Given the description of an element on the screen output the (x, y) to click on. 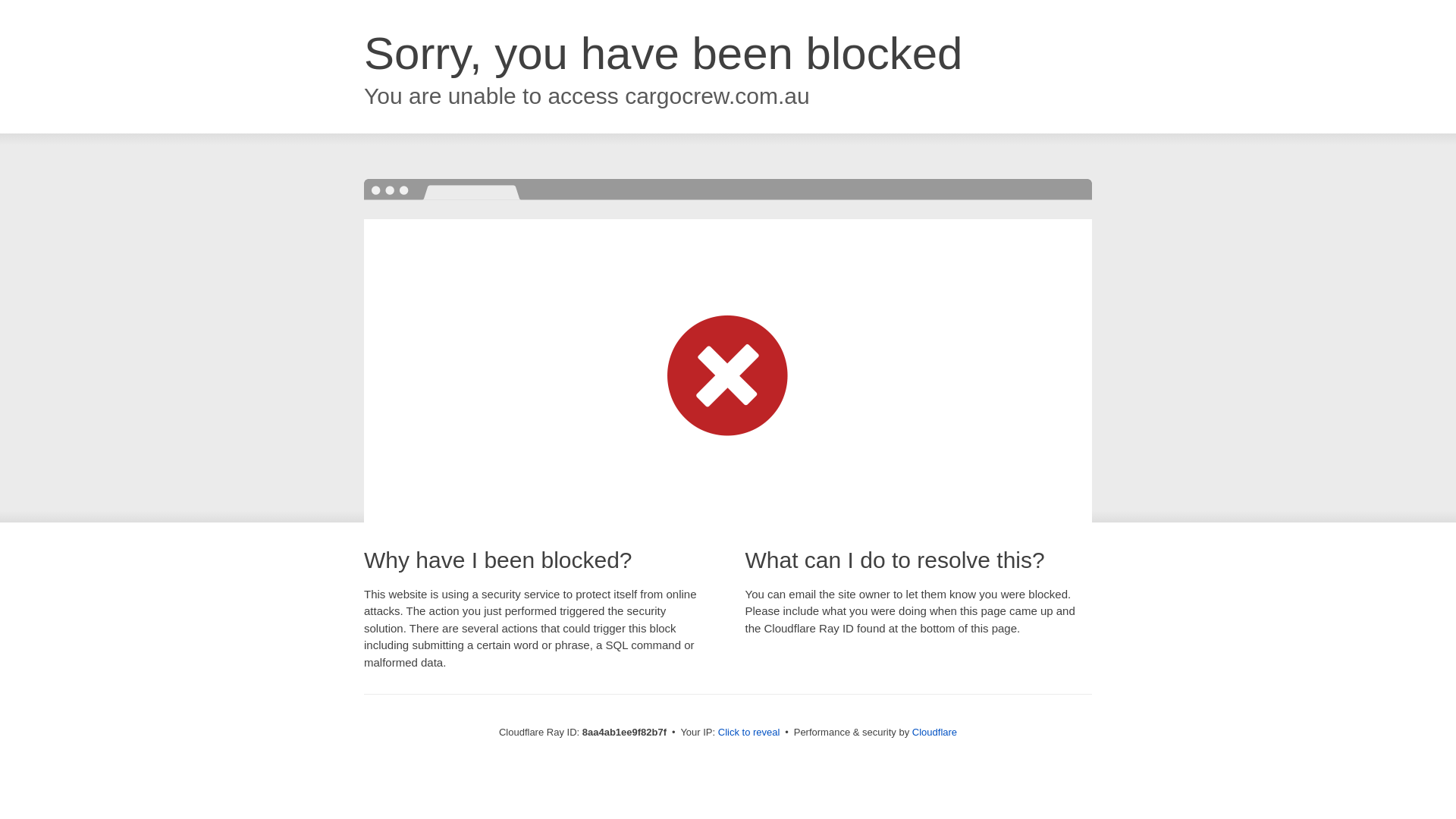
Click to reveal (748, 732)
Cloudflare (934, 731)
